Given the description of an element on the screen output the (x, y) to click on. 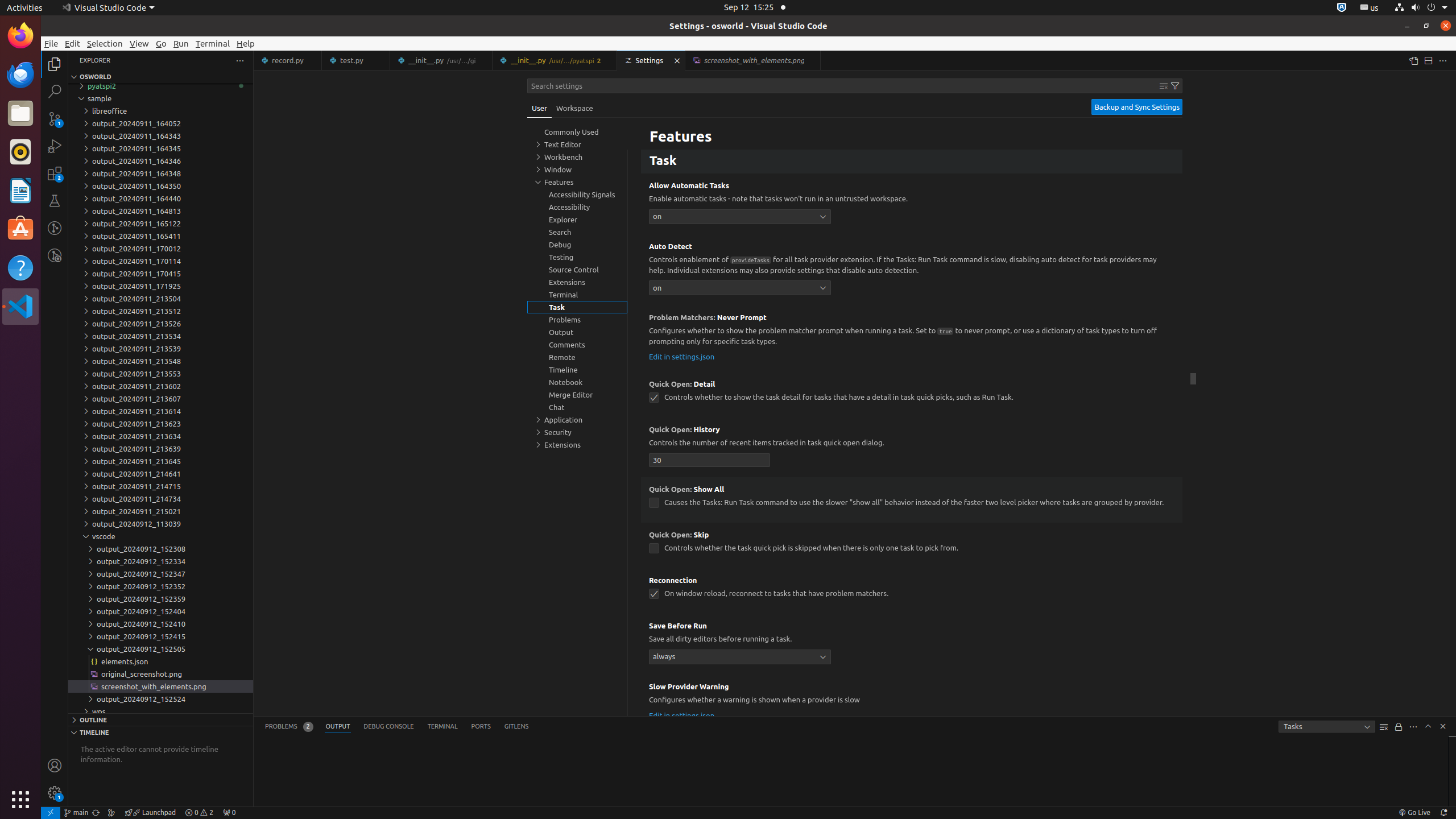
task.reconnection Element type: check-box (653, 593)
Search (Ctrl+Shift+F) Element type: page-tab (54, 91)
screenshot_with_elements.png, preview Element type: page-tab (753, 60)
libreoffice Element type: tree-item (160, 110)
Testing, group Element type: tree-item (577, 256)
